Given the description of an element on the screen output the (x, y) to click on. 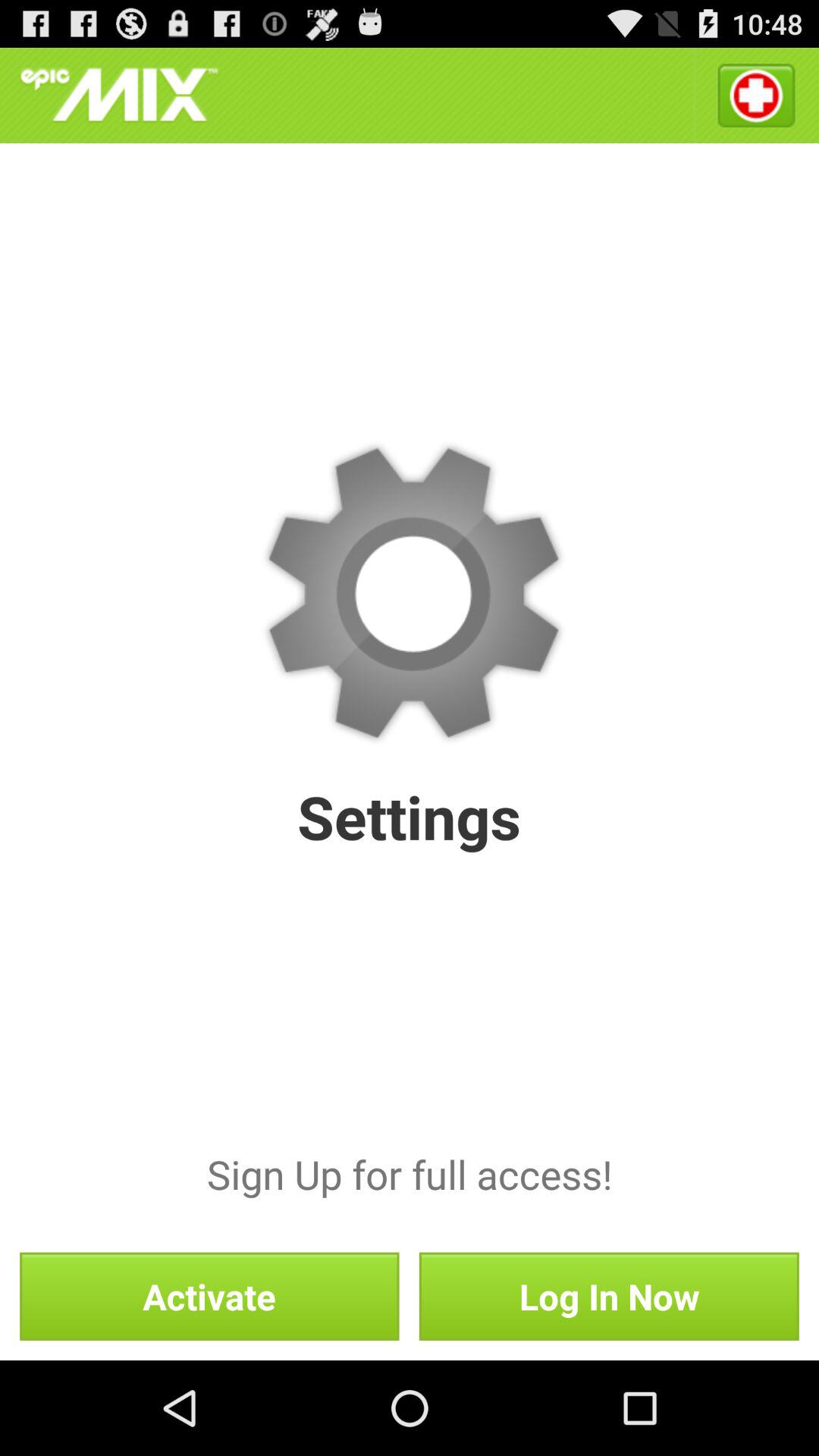
turn on the icon above the sign up for icon (755, 95)
